Given the description of an element on the screen output the (x, y) to click on. 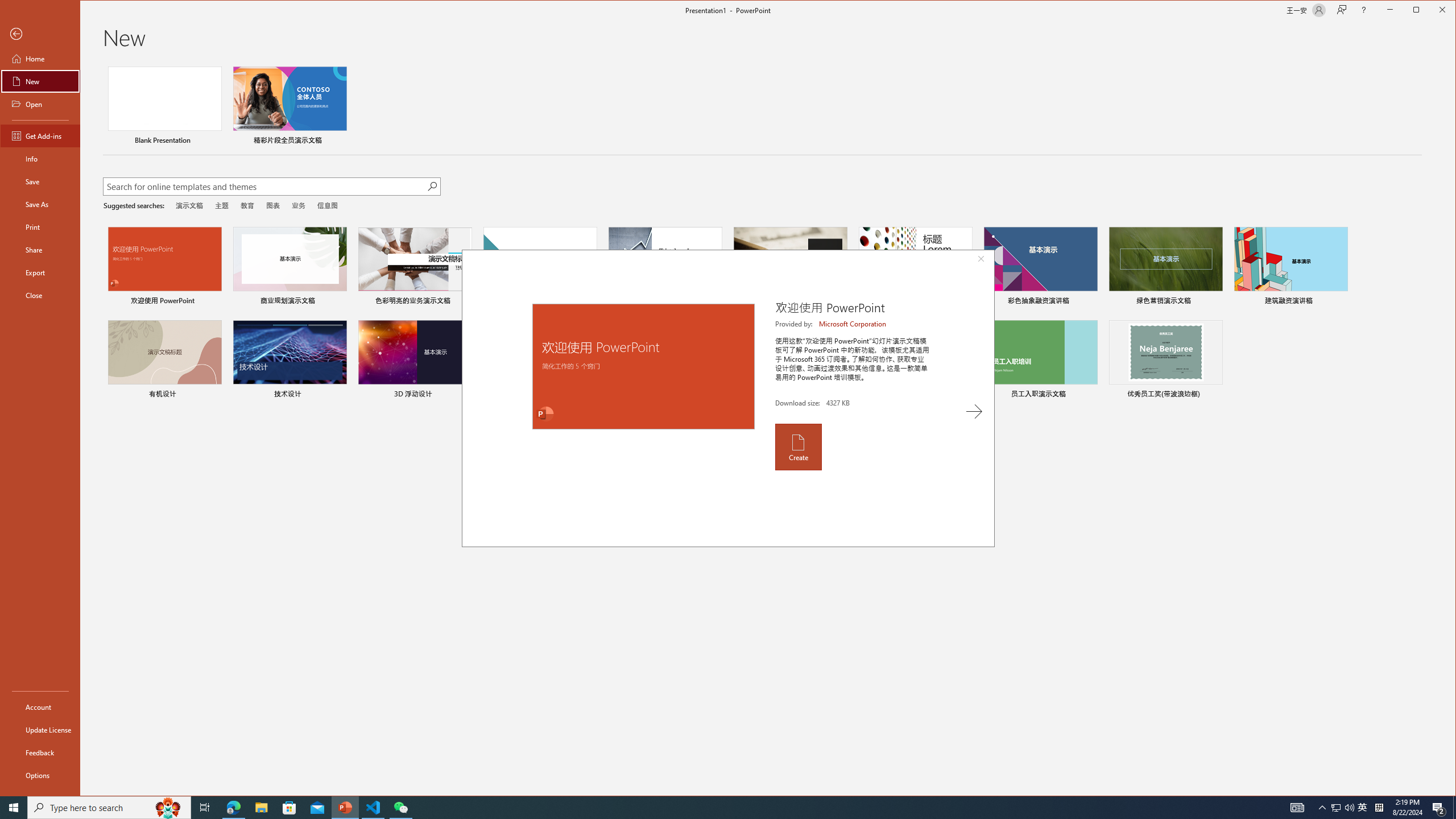
Print (40, 226)
Preview (643, 366)
Class: NetUIScrollBar (1450, 428)
Options (40, 775)
Export (40, 272)
Type here to search (108, 807)
Maximize (1432, 11)
Info (40, 158)
